Given the description of an element on the screen output the (x, y) to click on. 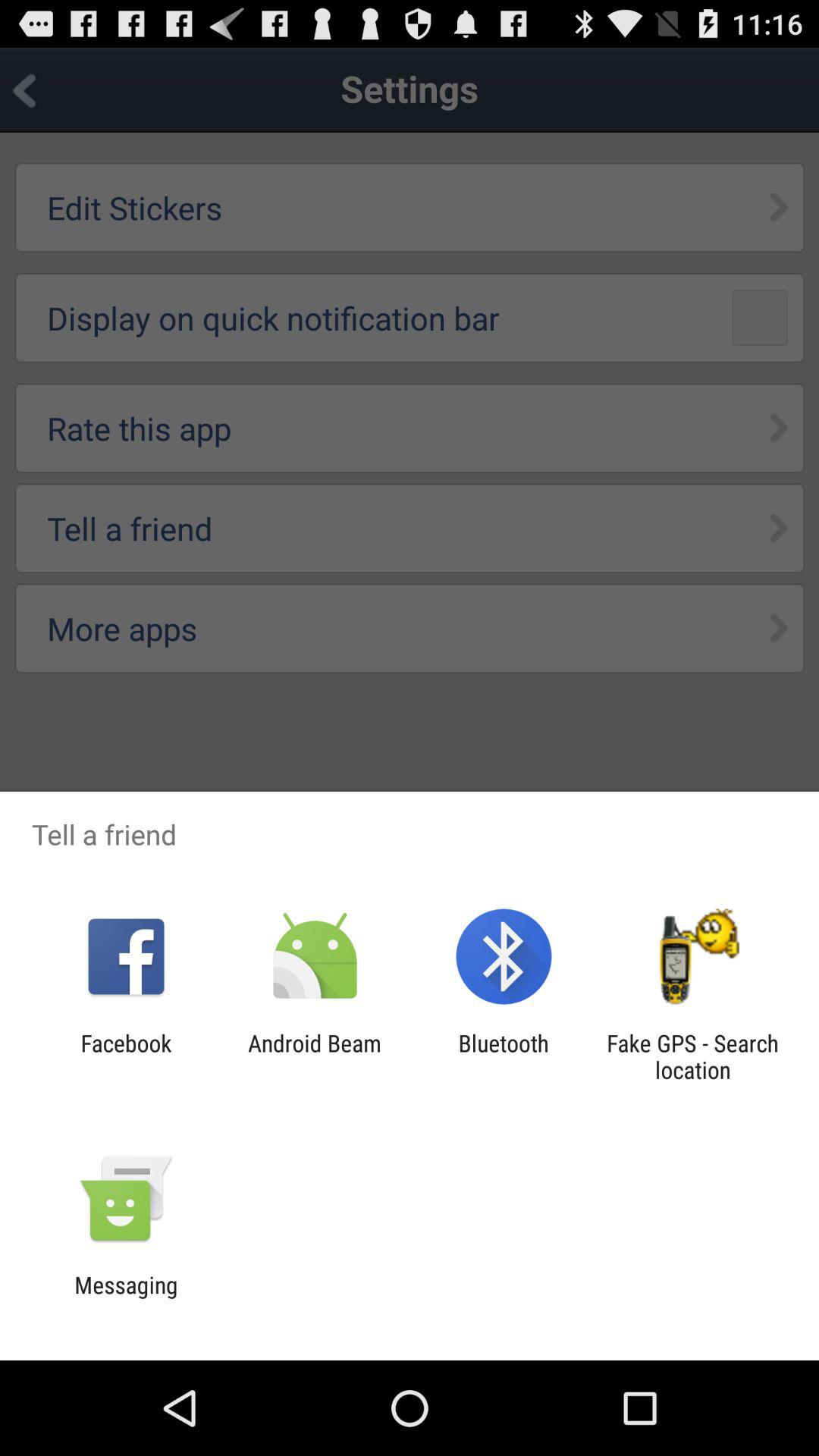
turn on the icon to the right of facebook (314, 1056)
